Given the description of an element on the screen output the (x, y) to click on. 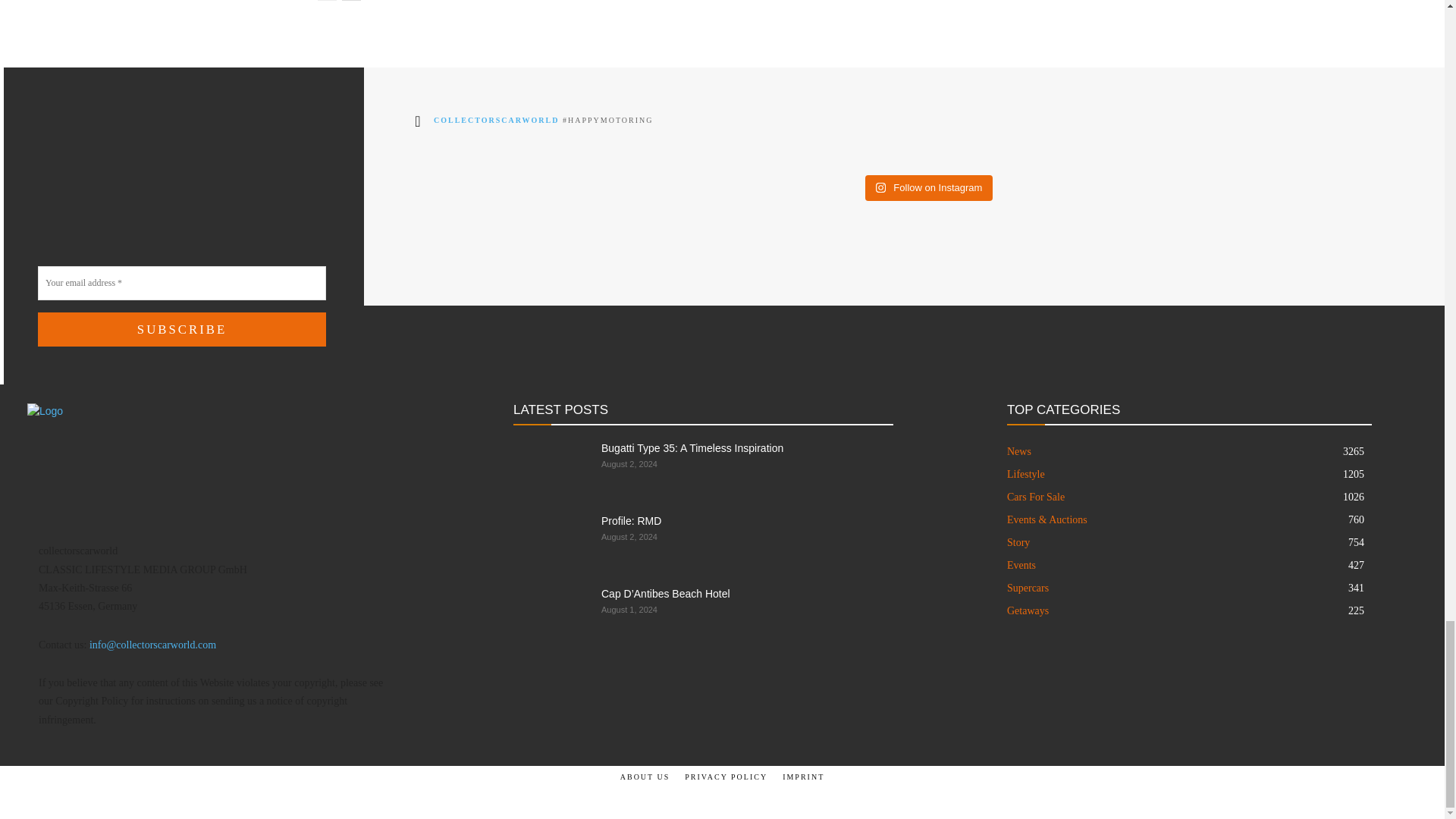
SUBSCRIBE (181, 329)
